Given the description of an element on the screen output the (x, y) to click on. 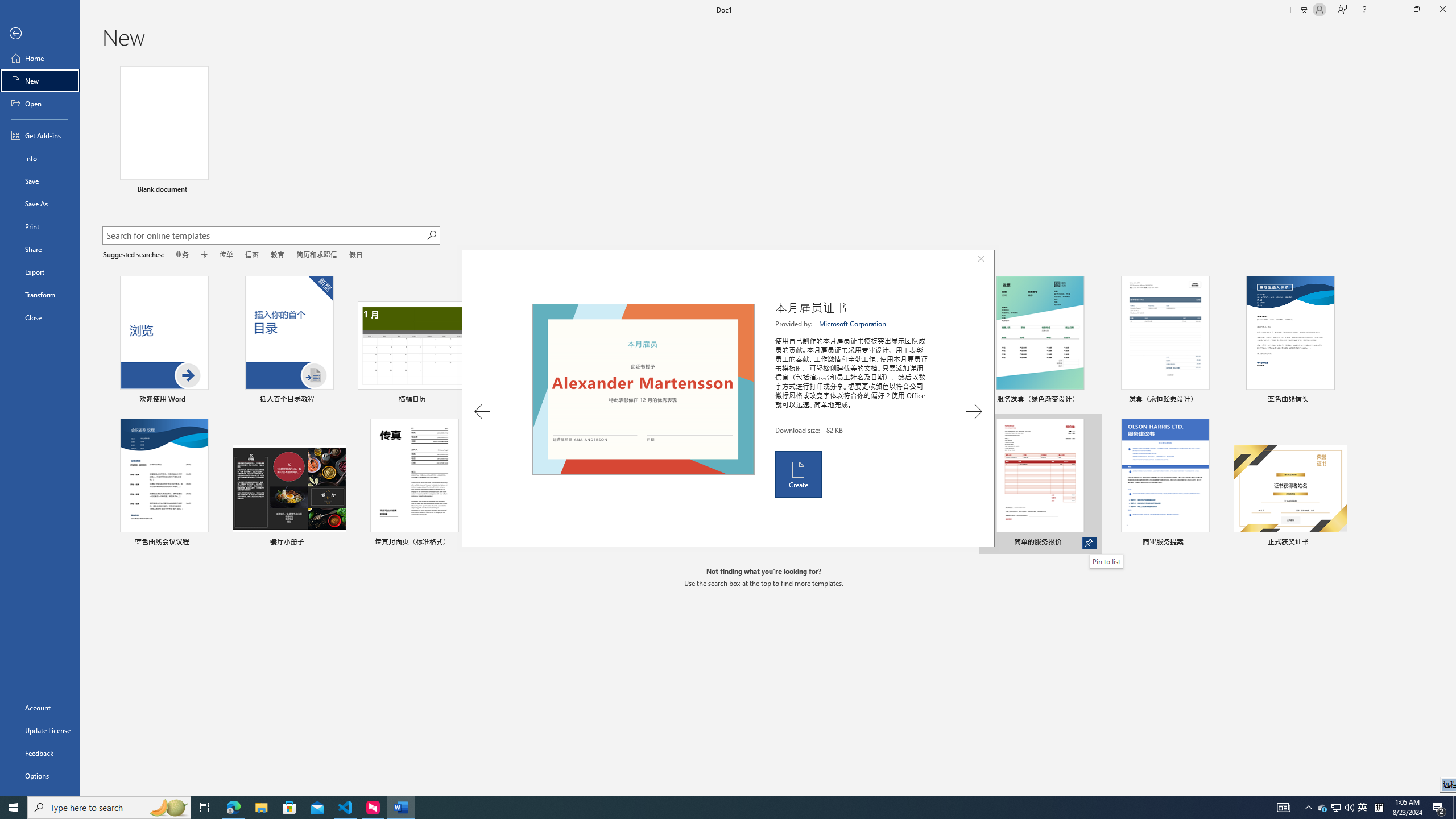
Next Template (974, 411)
Options (40, 775)
Preview (643, 389)
Update License (40, 730)
Pin to list (1339, 543)
Transform (40, 294)
Export (40, 271)
